Given the description of an element on the screen output the (x, y) to click on. 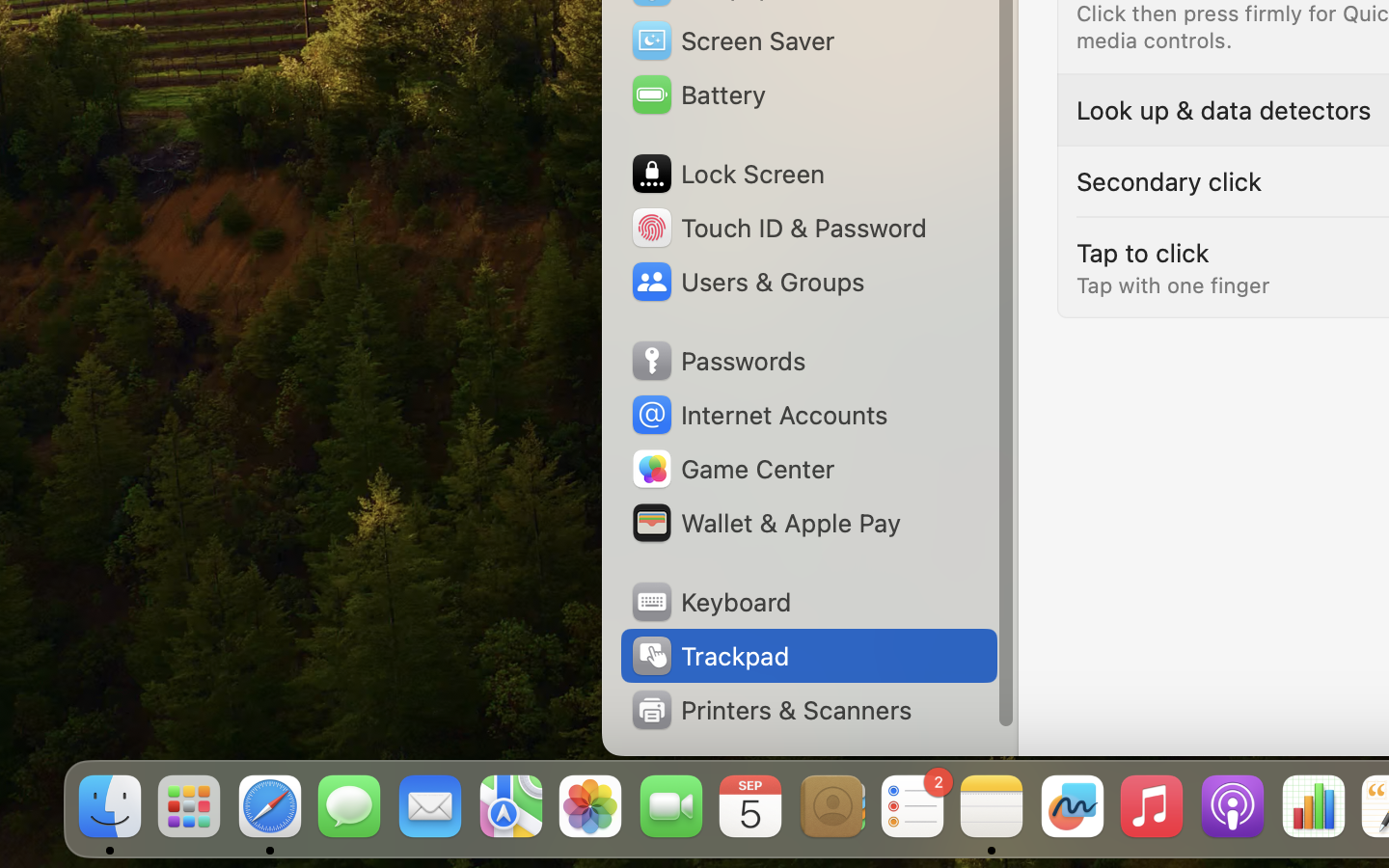
Printers & Scanners Element type: AXStaticText (770, 709)
